Given the description of an element on the screen output the (x, y) to click on. 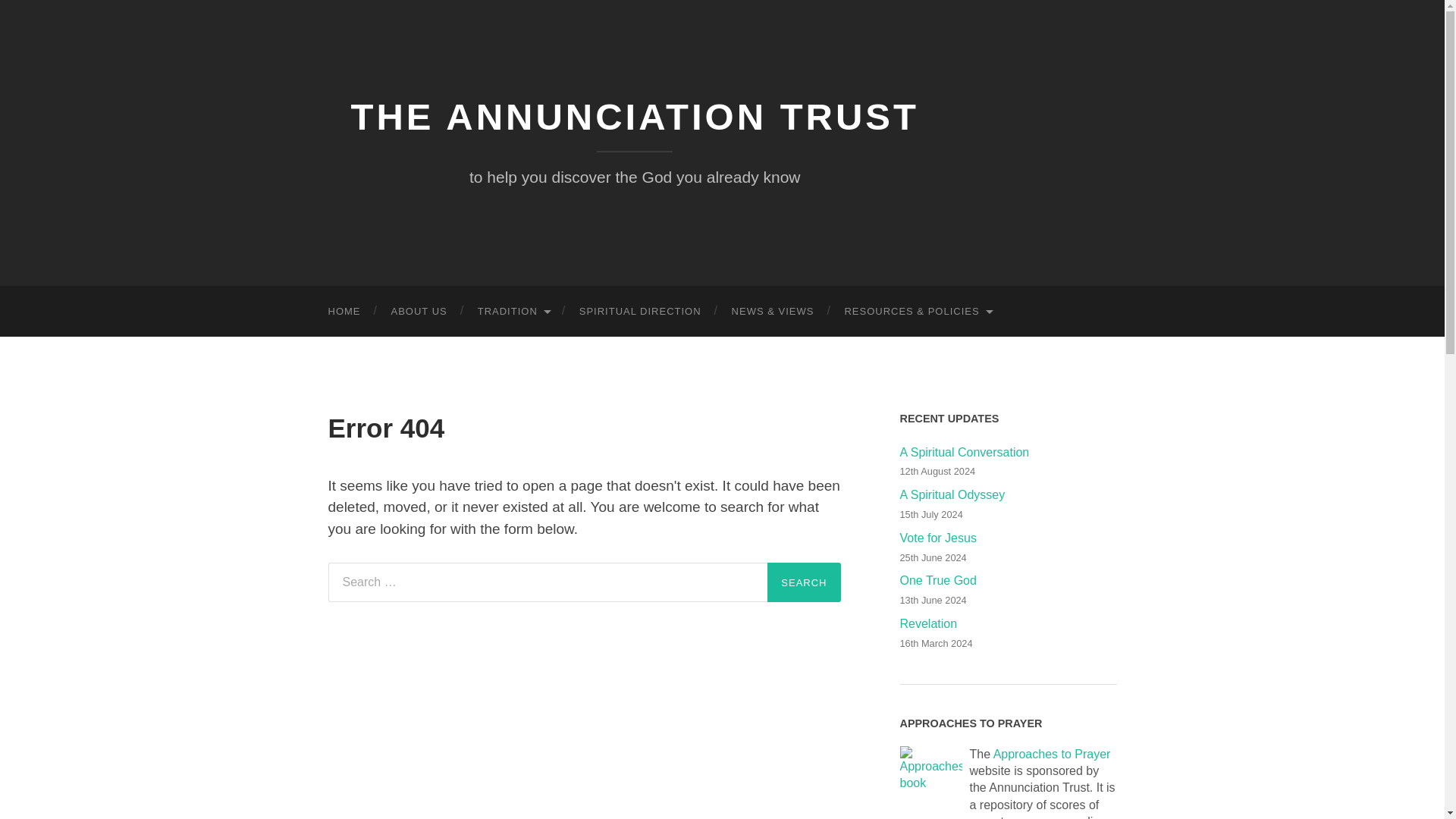
A Spiritual Conversation (1007, 453)
Vote for Jesus (1007, 538)
SPIRITUAL DIRECTION (640, 310)
THE ANNUNCIATION TRUST (634, 116)
A Spiritual Odyssey (1007, 495)
Search (803, 581)
Search (803, 581)
Search (803, 581)
ABOUT US (419, 310)
One True God (1007, 580)
